Given the description of an element on the screen output the (x, y) to click on. 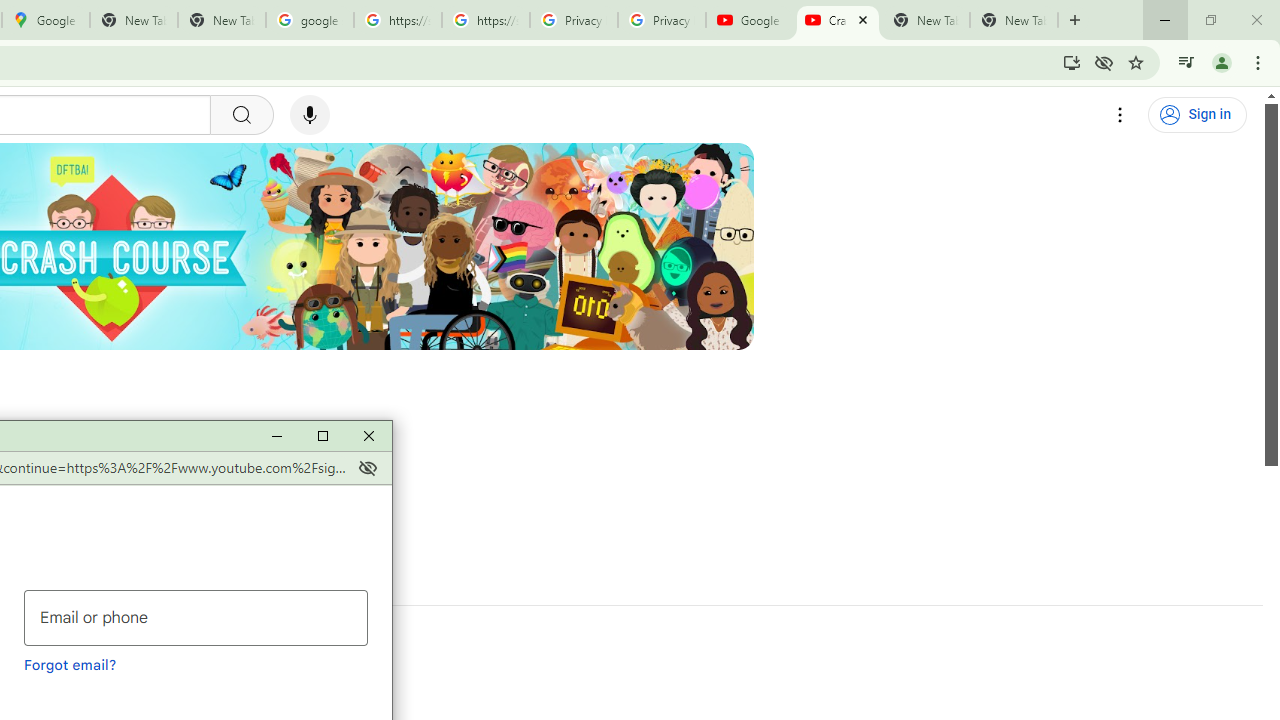
Email or phone (196, 618)
Settings (1119, 115)
https://scholar.google.com/ (485, 20)
https://scholar.google.com/ (397, 20)
Maximize (322, 436)
Google - YouTube (749, 20)
